Given the description of an element on the screen output the (x, y) to click on. 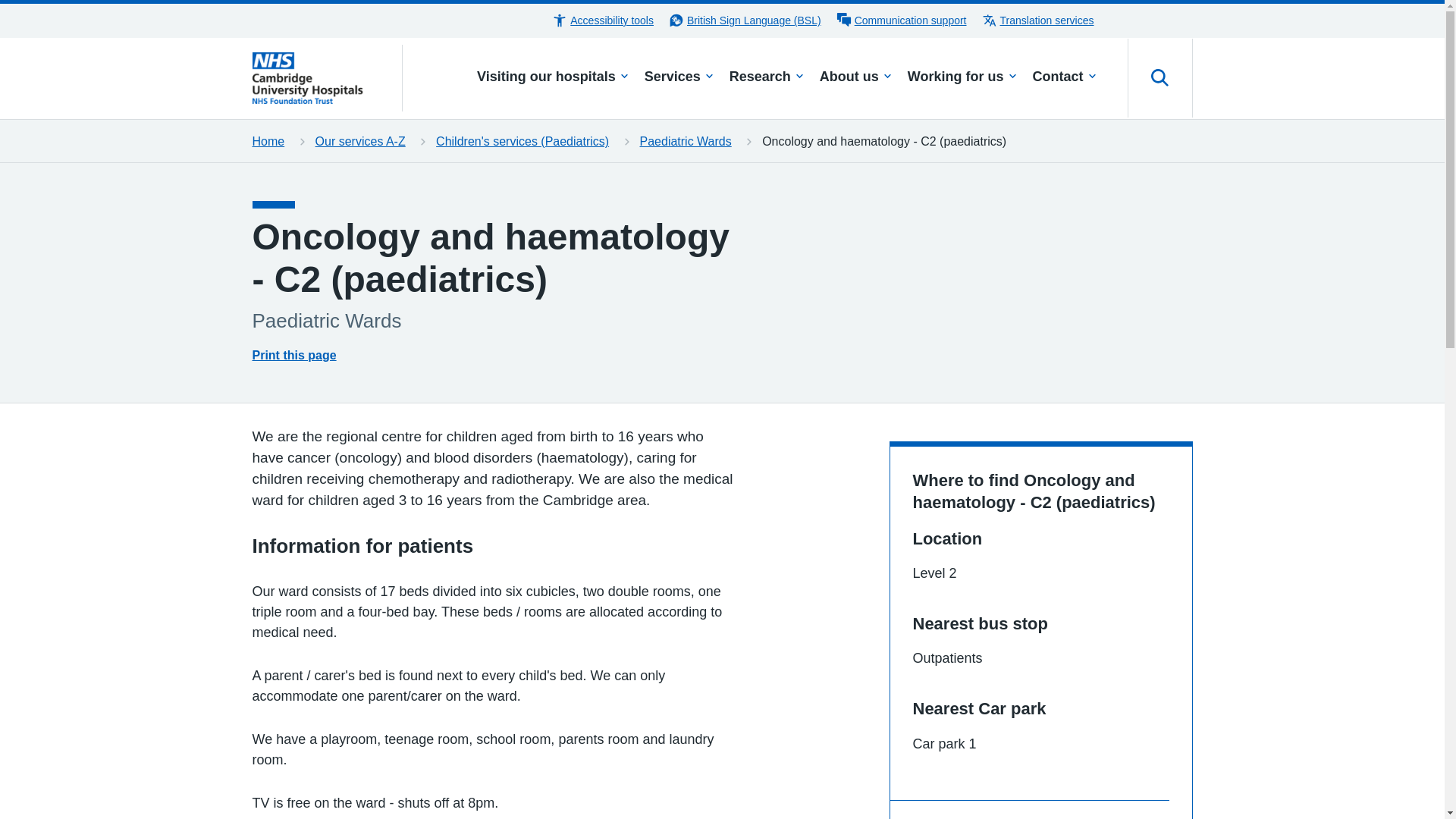
Communication support (900, 20)
Visiting our hospitals (552, 78)
Services (679, 78)
Accessibility tools (602, 20)
Translation services (1037, 20)
